Given the description of an element on the screen output the (x, y) to click on. 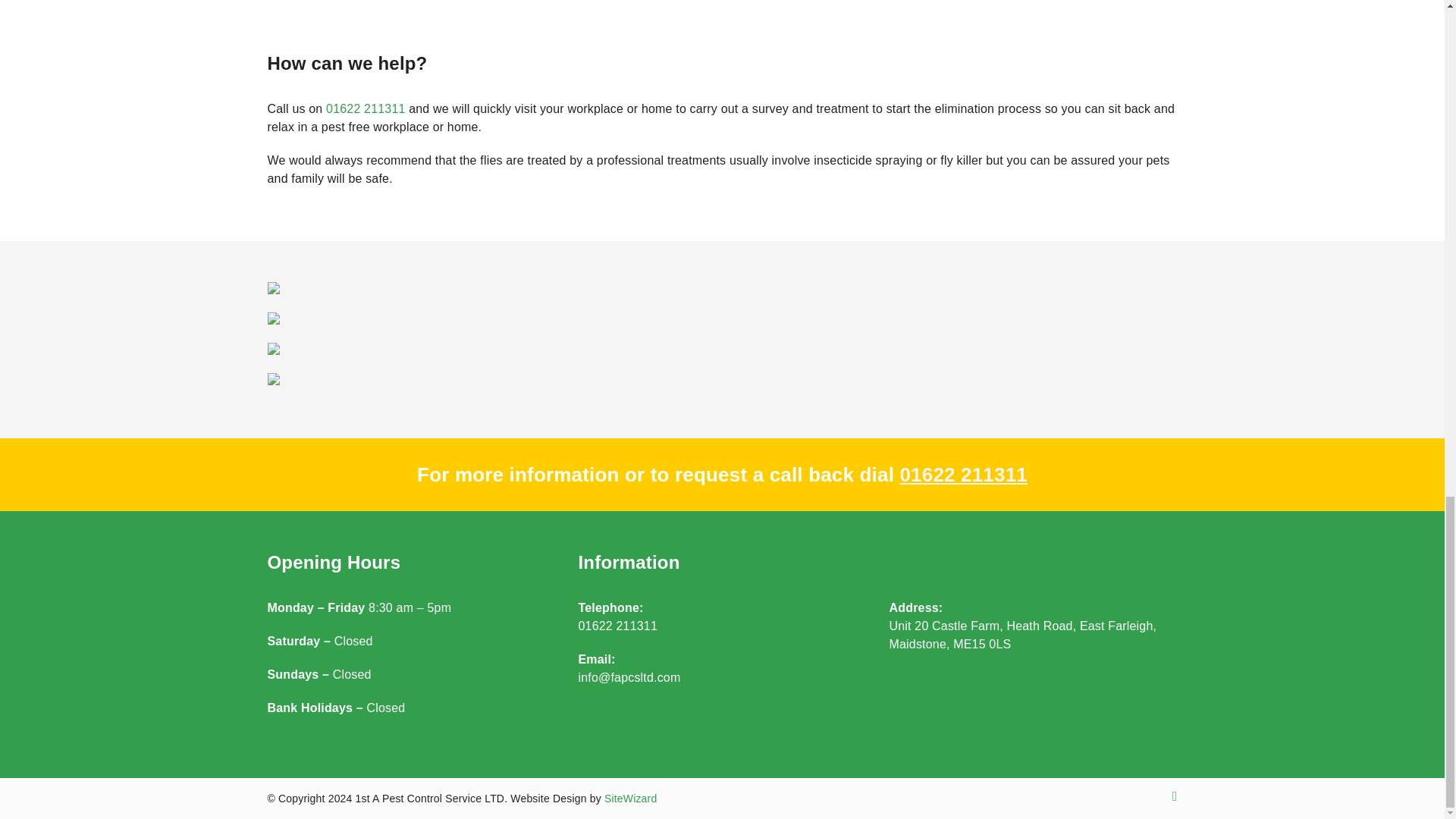
01622 211311 (618, 625)
SiteWizard (630, 798)
01622 211311 (962, 474)
01622 211311 (366, 108)
